Given the description of an element on the screen output the (x, y) to click on. 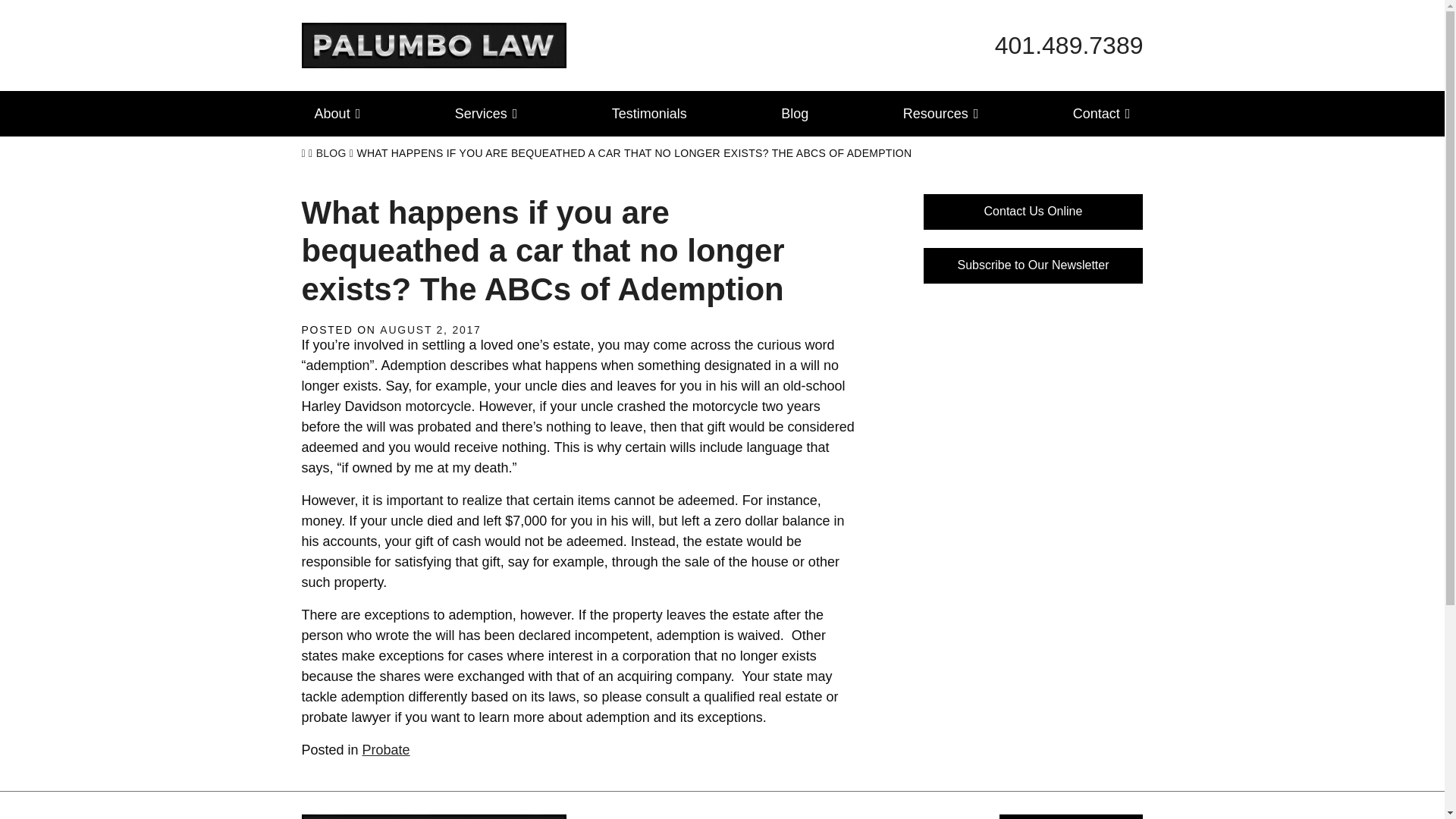
Return home (434, 44)
Services (486, 113)
About (337, 113)
